Given the description of an element on the screen output the (x, y) to click on. 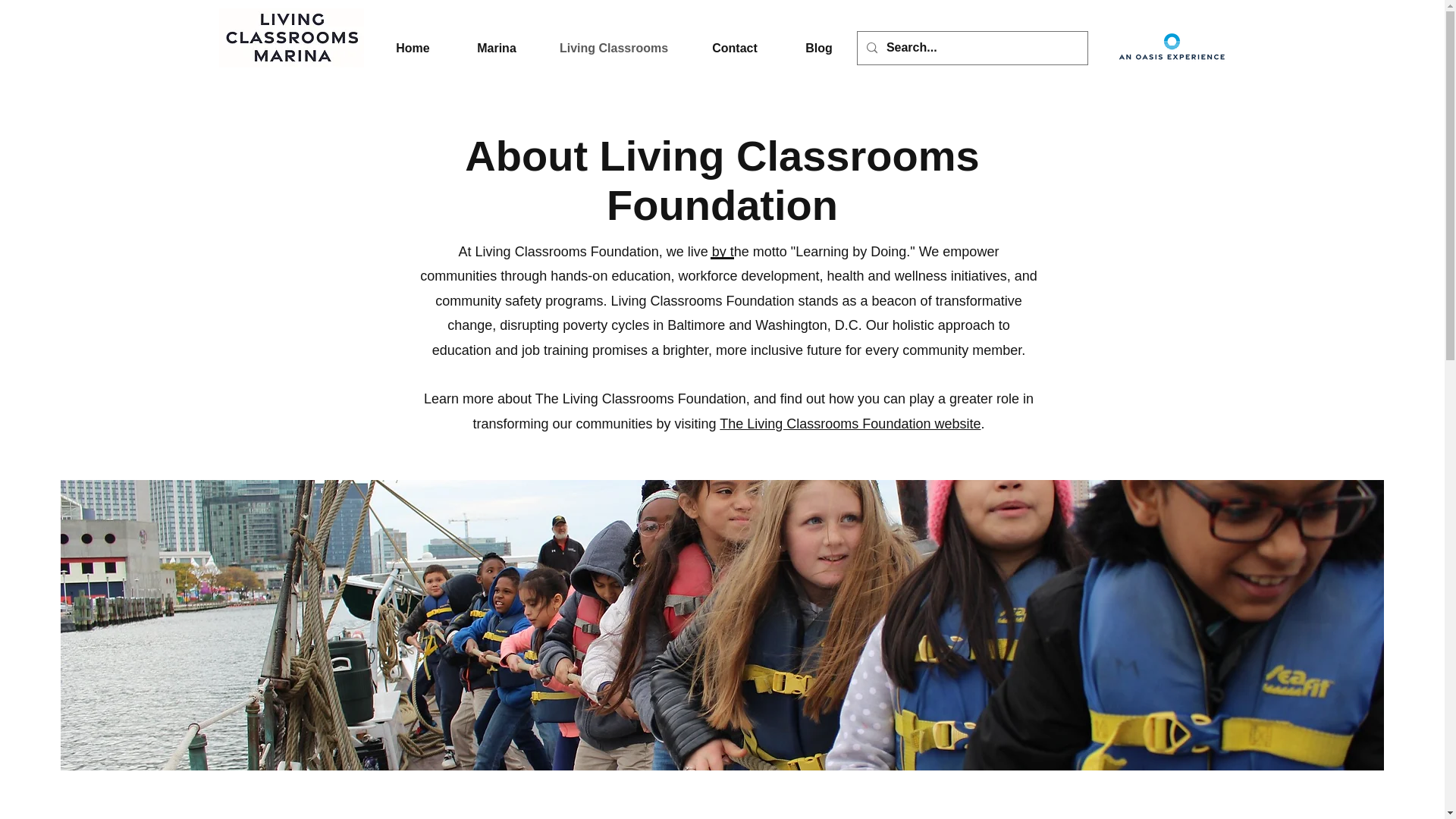
Blog (818, 47)
Home (411, 47)
Living Classrooms (614, 47)
Contact (734, 47)
The Living Classrooms Foundation website (849, 423)
Marina (495, 47)
